Given the description of an element on the screen output the (x, y) to click on. 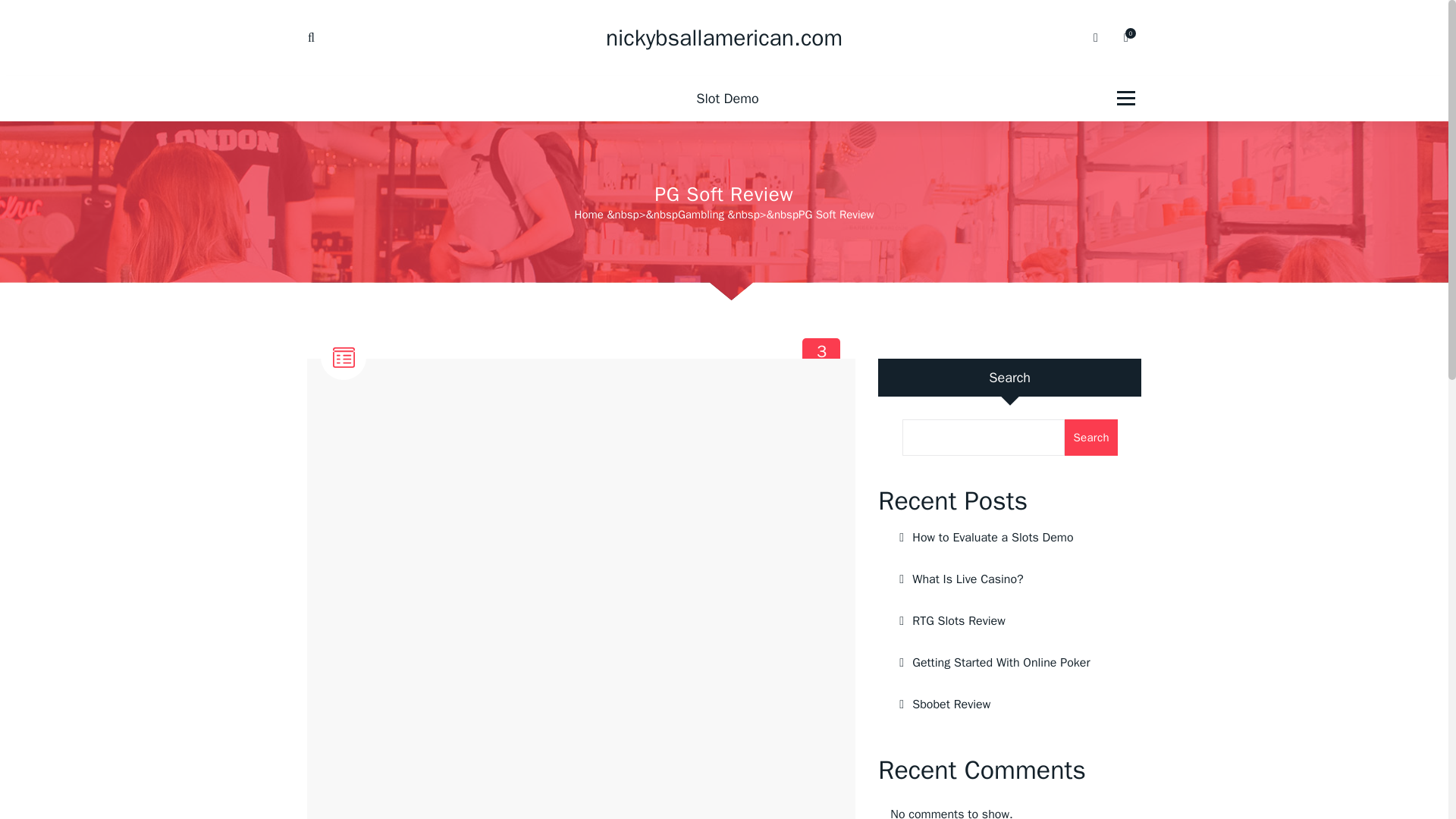
Search (821, 357)
0 (1090, 437)
RTG Slots Review (1125, 37)
Slot Demo (1009, 620)
How to Evaluate a Slots Demo (723, 98)
What Is Live Casino? (1009, 536)
Getting Started With Online Poker (1009, 578)
Sbobet Review (1009, 662)
Gambling (1009, 703)
